Given the description of an element on the screen output the (x, y) to click on. 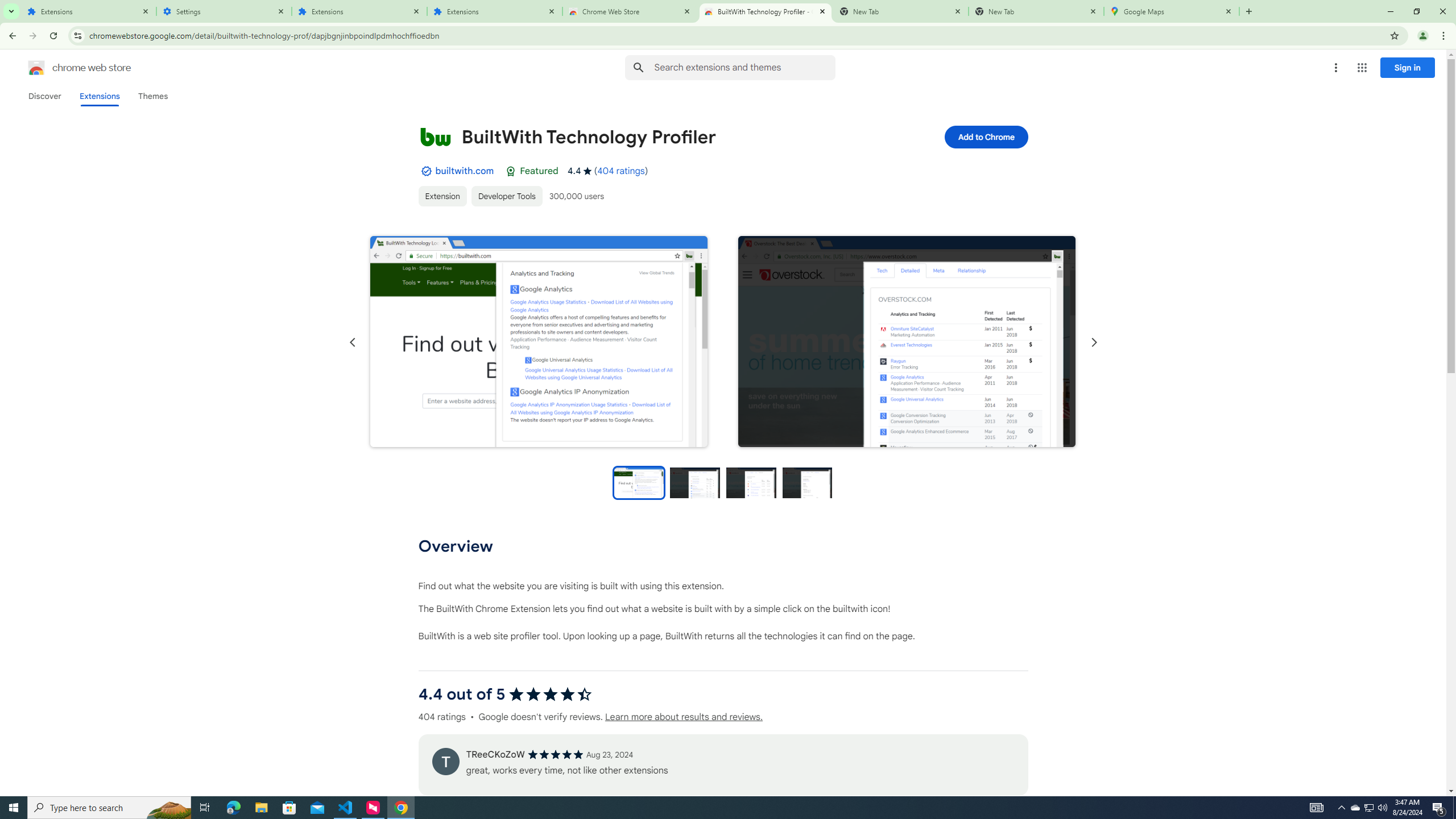
Item logo image for BuiltWith Technology Profiler (434, 136)
Item media 2 screenshot (906, 341)
Developer Tools (506, 195)
Item media 1 screenshot (538, 342)
5 out of 5 stars (555, 753)
BuiltWith Technology Profiler - Chrome Web Store (765, 11)
More options menu (1335, 67)
Extensions (494, 11)
Chrome Web Store logo chrome web store (67, 67)
